Given the description of an element on the screen output the (x, y) to click on. 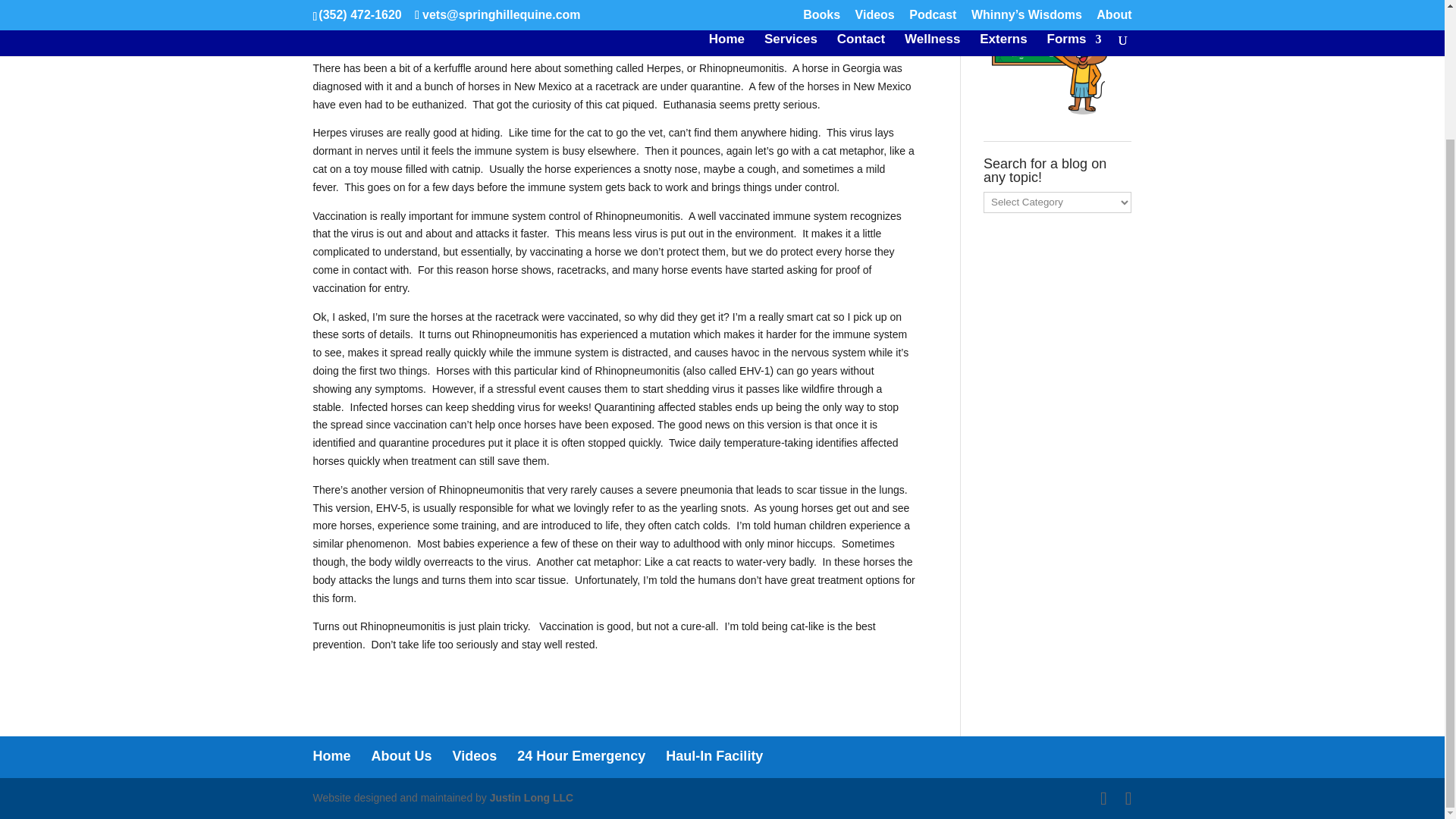
Home (331, 755)
Videos (474, 755)
Herpes (450, 14)
24 Hour Emergency (580, 755)
Ailments (403, 14)
Haul-In Facility (713, 755)
Justin Long LLC (531, 797)
Vaccines (498, 14)
About Us (401, 755)
